Given the description of an element on the screen output the (x, y) to click on. 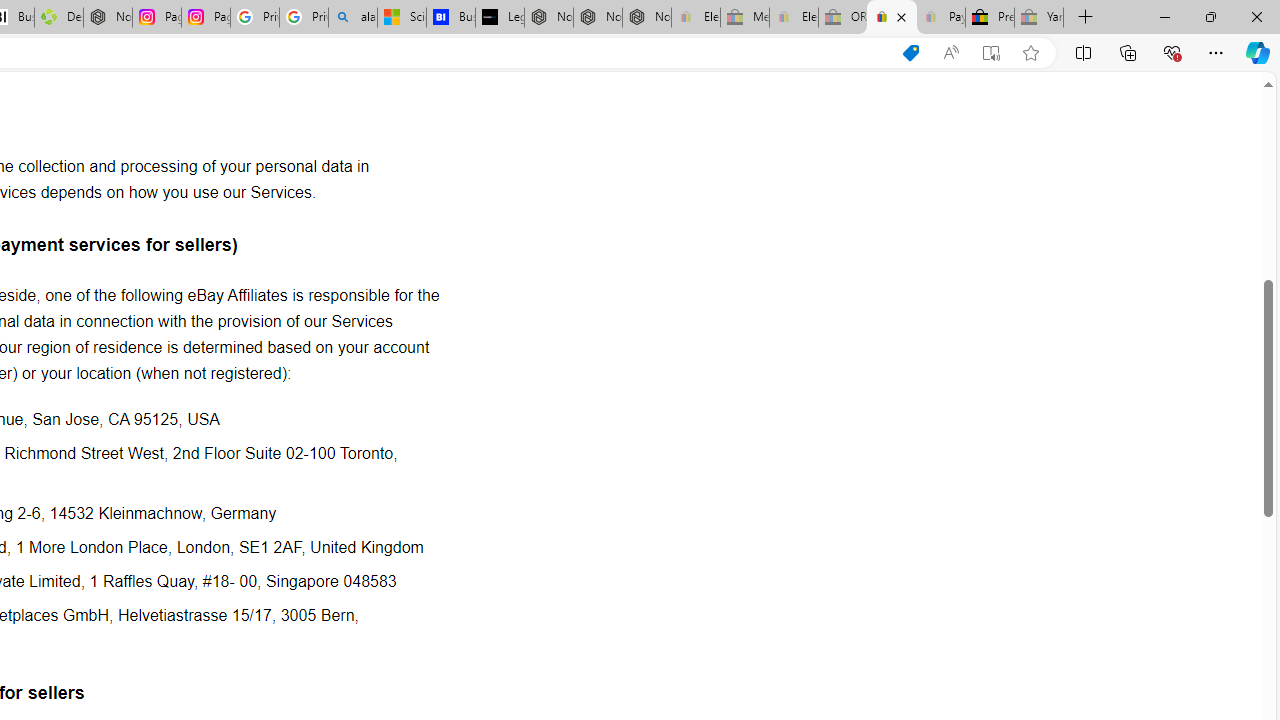
Descarga Driver Updater (58, 17)
Payments Terms of Use | eBay.com - Sleeping (940, 17)
Press Room - eBay Inc. (989, 17)
